Given the description of an element on the screen output the (x, y) to click on. 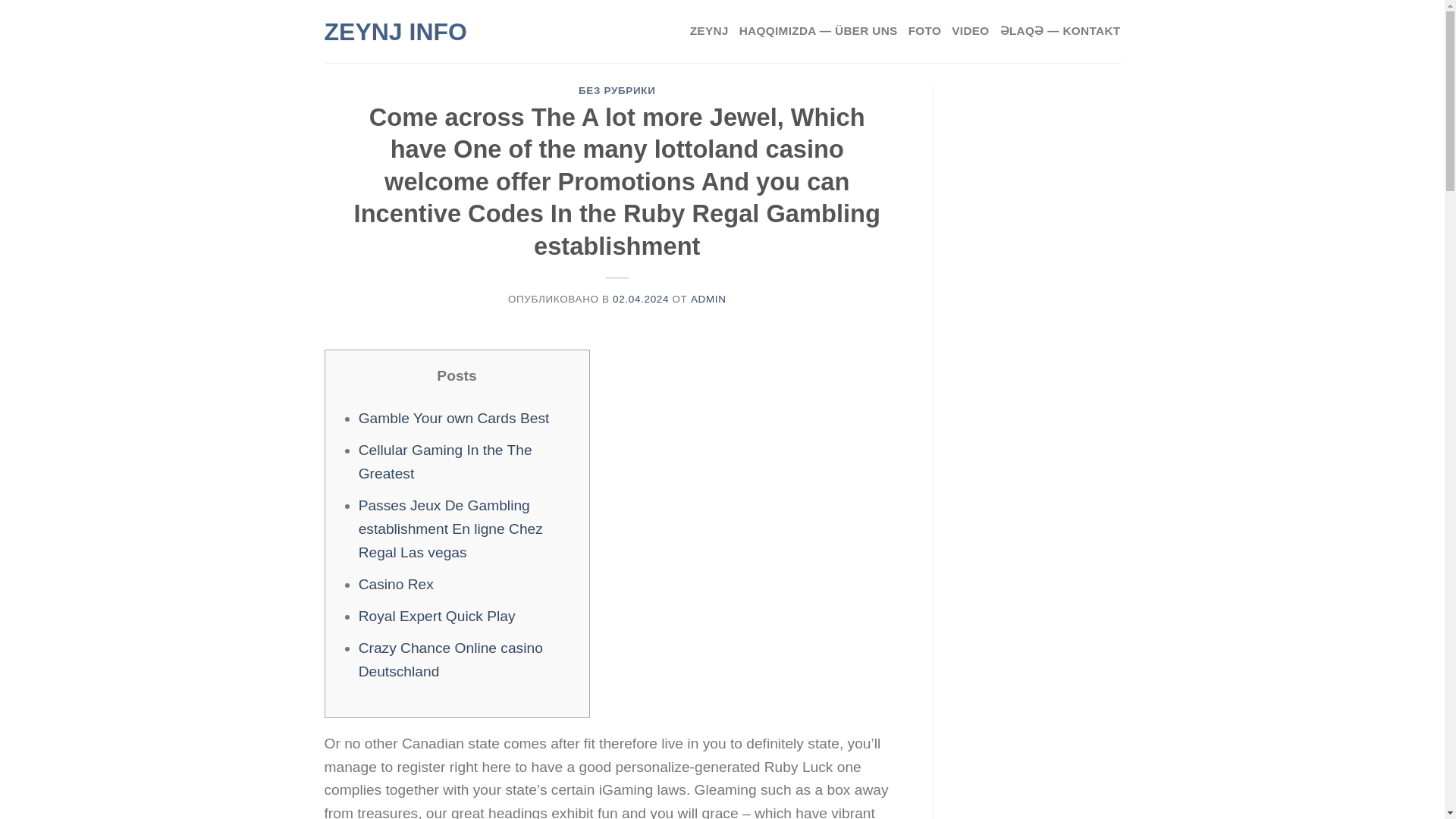
VIDEO (970, 31)
Royal Expert Quick Play (436, 616)
02.04.2024 (640, 298)
Crazy Chance Online casino Deutschland (450, 659)
ZEYNJ INFO (418, 31)
Casino Rex (395, 584)
FOTO (925, 31)
Gamble Your own Cards Best (454, 417)
ZEYNJ (709, 31)
ADMIN (708, 298)
Cellular Gaming In the The Greatest (445, 461)
